Given the description of an element on the screen output the (x, y) to click on. 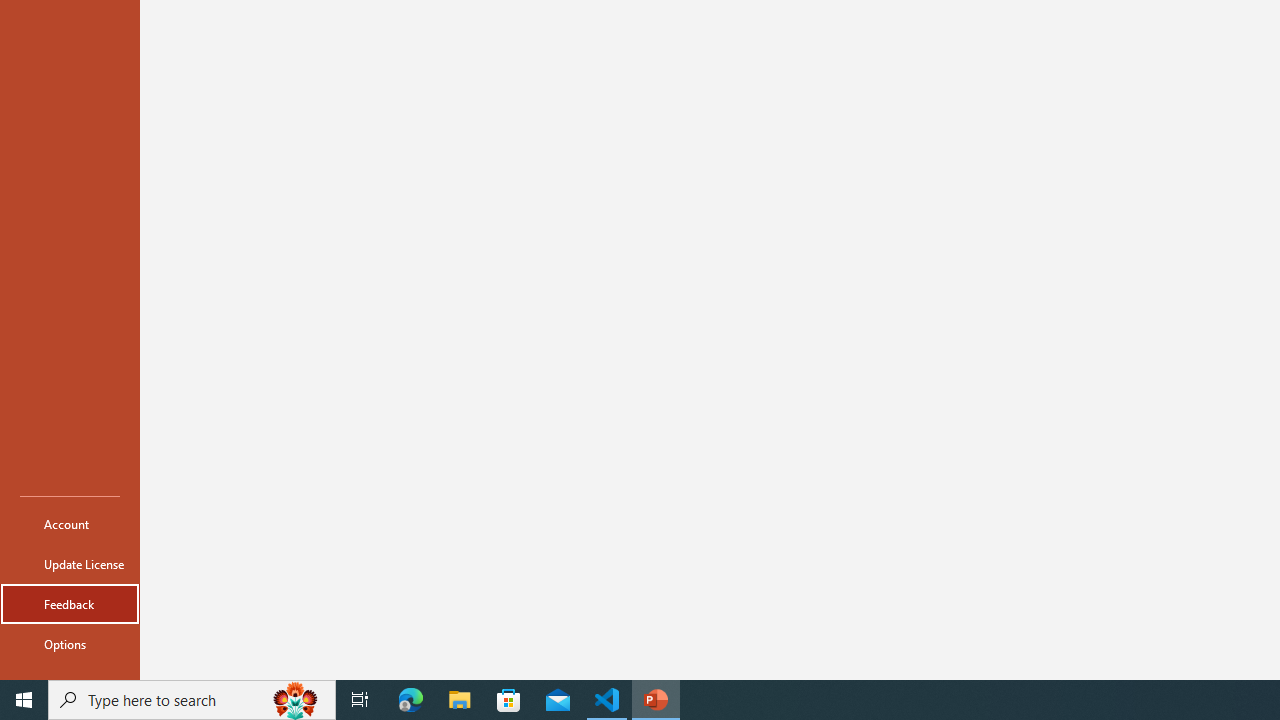
Account (69, 523)
Feedback (69, 603)
Update License (69, 563)
Options (69, 643)
